Given the description of an element on the screen output the (x, y) to click on. 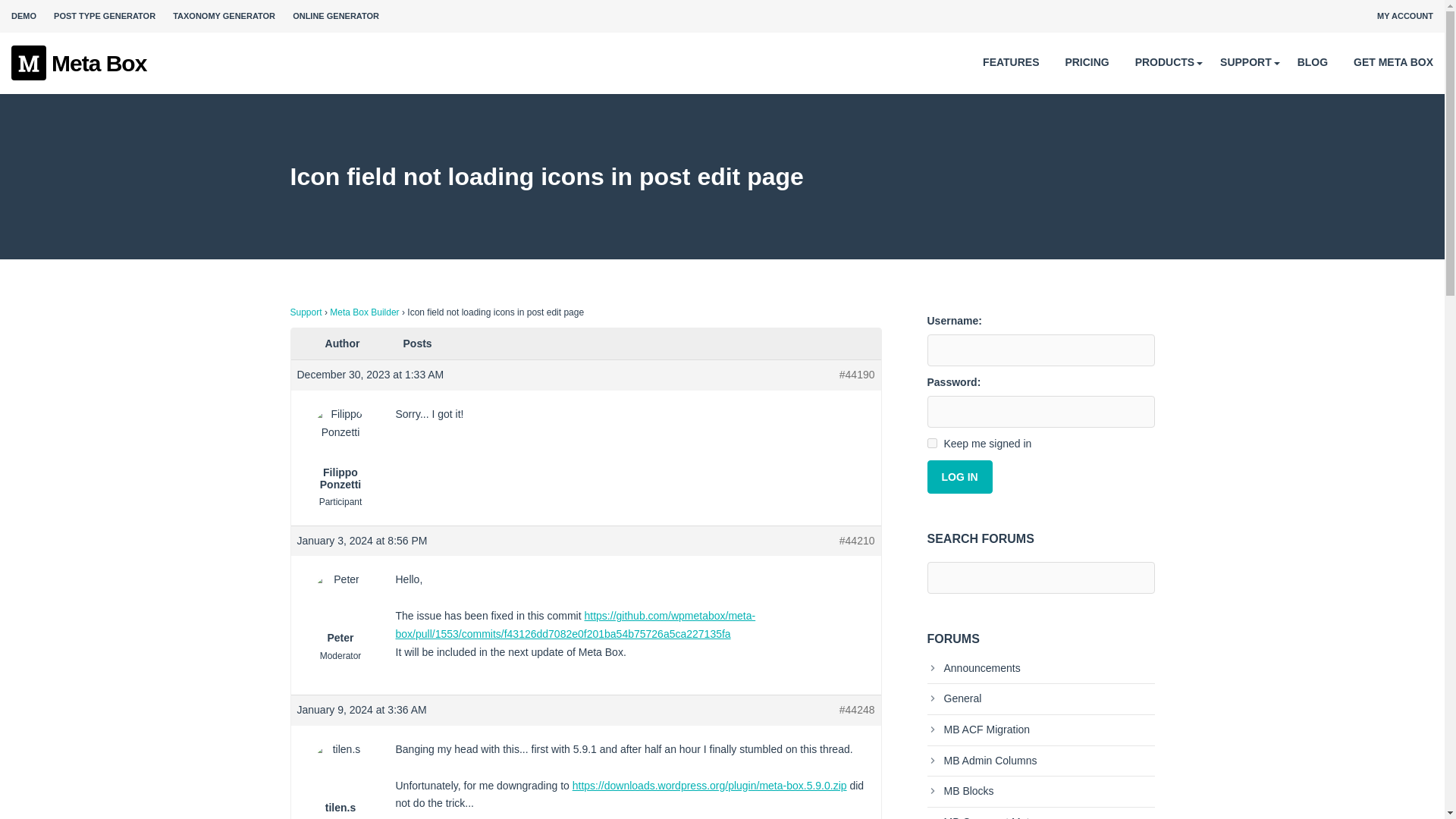
View Filippo Ponzetti's profile (340, 457)
Meta Box (79, 63)
tilen.s (340, 778)
PRODUCTS (1165, 62)
GET META BOX (1393, 62)
View Peter's profile (340, 608)
BLOG (1312, 62)
Support (305, 312)
PRICING (1086, 62)
MY ACCOUNT (1404, 15)
forever (931, 442)
View tilen.s's profile (340, 778)
TAXONOMY GENERATOR (224, 15)
Peter (340, 608)
ONLINE GENERATOR (335, 15)
